Given the description of an element on the screen output the (x, y) to click on. 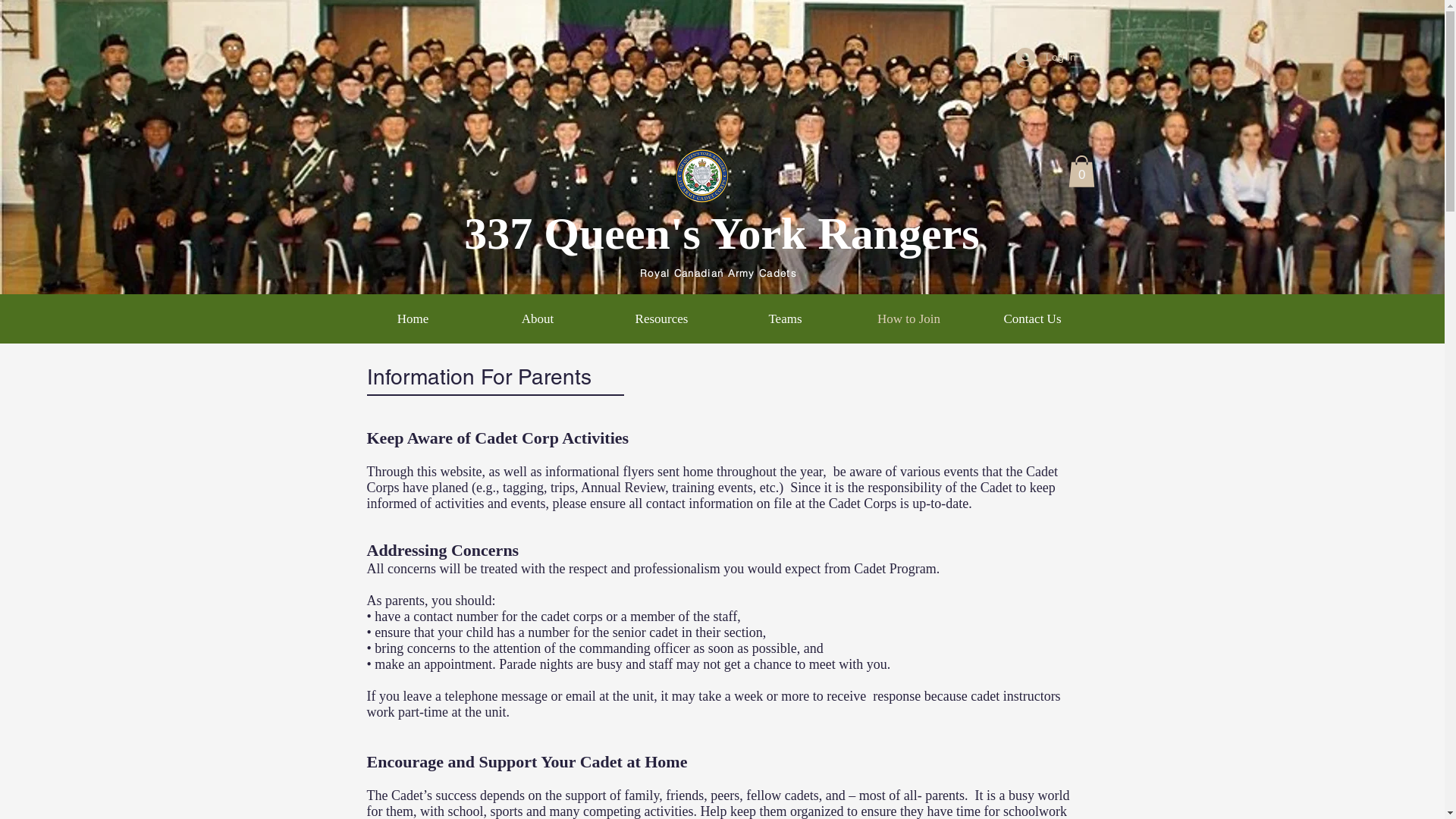
About Element type: text (536, 319)
Log In Element type: text (1044, 57)
How to Join Element type: text (907, 319)
Teams Element type: text (785, 319)
337 Queen's York Rangers Element type: text (721, 233)
Contact Us Element type: text (1032, 319)
Home Element type: text (412, 319)
0 Element type: text (1080, 171)
Royal Canadian Army Cadets Element type: text (718, 273)
